Given the description of an element on the screen output the (x, y) to click on. 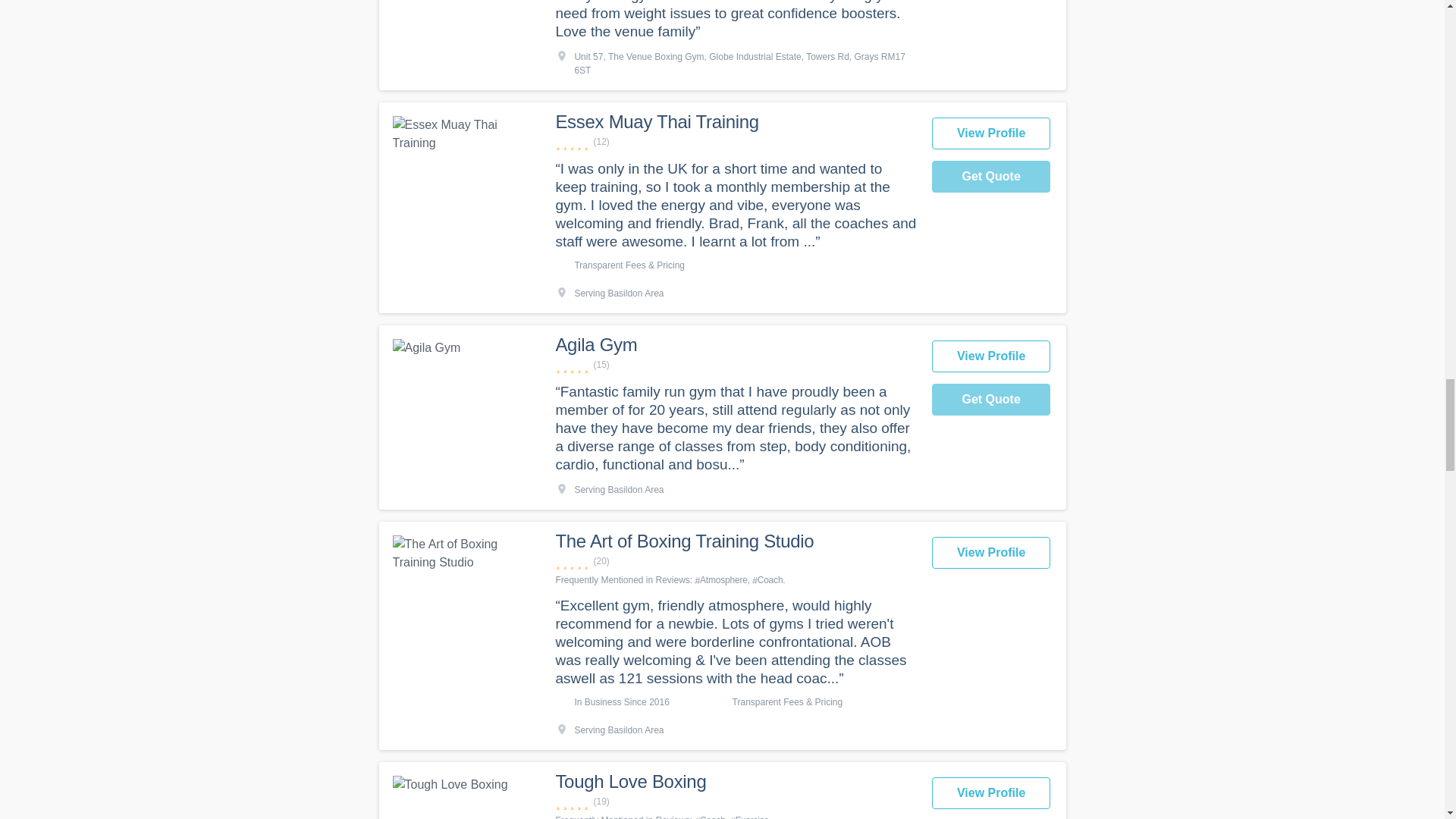
5.0 (734, 142)
5.0 (734, 364)
4.9 (734, 561)
5.0 (734, 801)
